Given the description of an element on the screen output the (x, y) to click on. 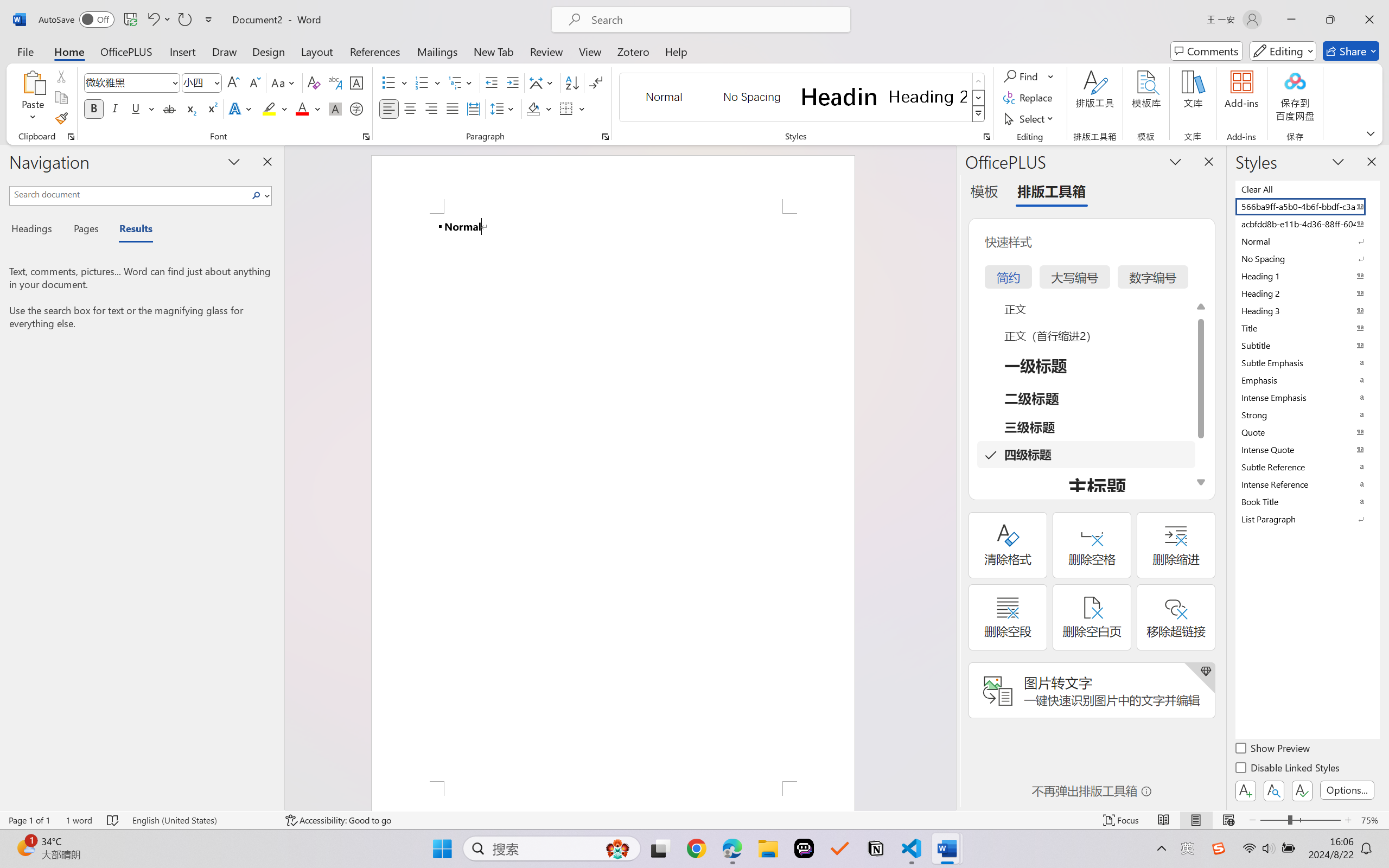
Repeat Style (184, 19)
Enclose Characters... (356, 108)
Font Size (201, 82)
Subtle Reference (1306, 466)
Search (259, 195)
Review (546, 51)
Normal (1306, 240)
Accessibility Checker Accessibility: Good to go (338, 819)
Class: NetUIScrollBar (948, 477)
Paste (33, 97)
Undo <ApplyStyleToDoc>b__0 (158, 19)
Distributed (473, 108)
Font... (365, 136)
Show/Hide Editing Marks (595, 82)
